Given the description of an element on the screen output the (x, y) to click on. 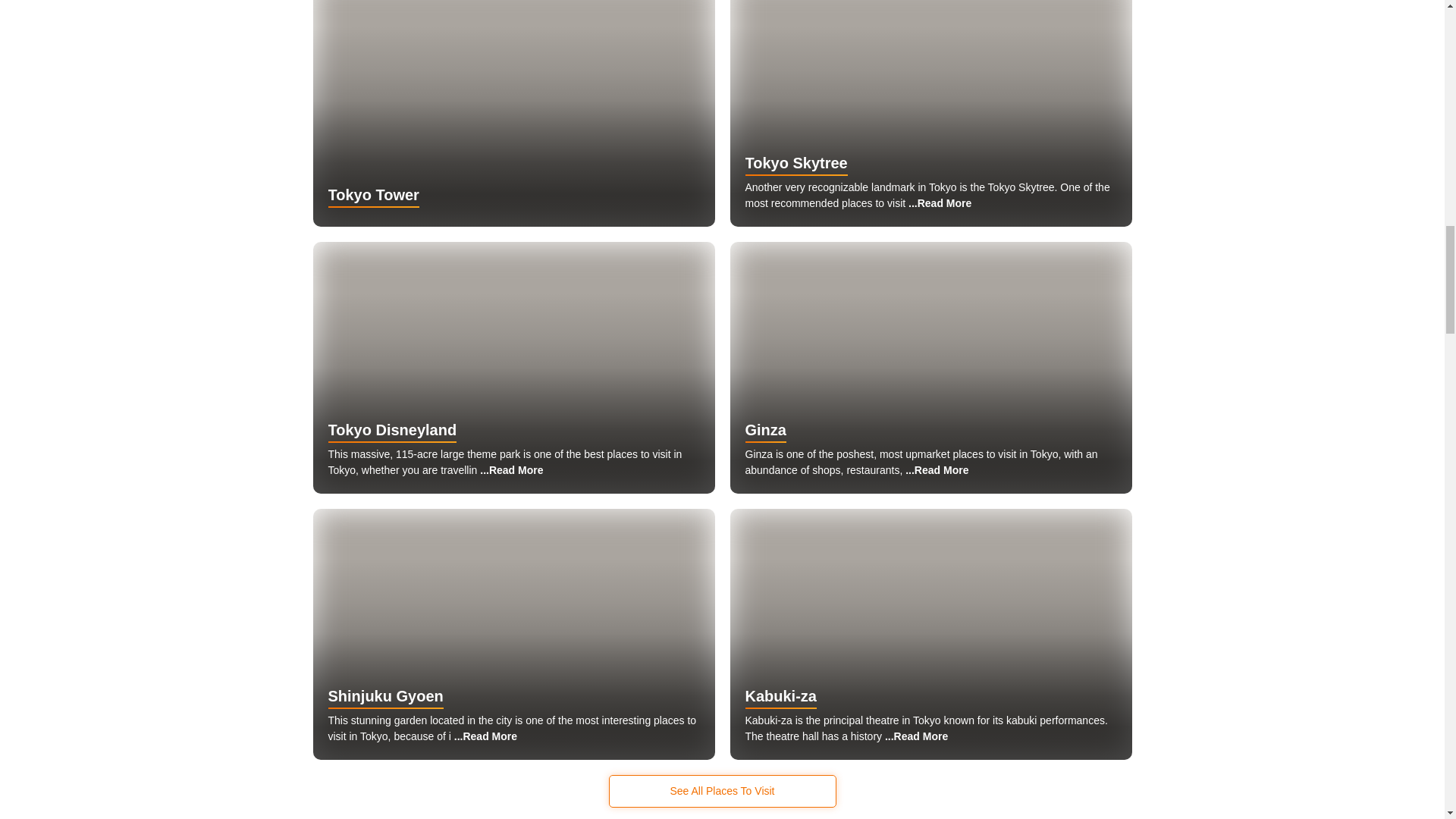
See All Places To Visit (721, 790)
Tokyo Tower (513, 113)
